Given the description of an element on the screen output the (x, y) to click on. 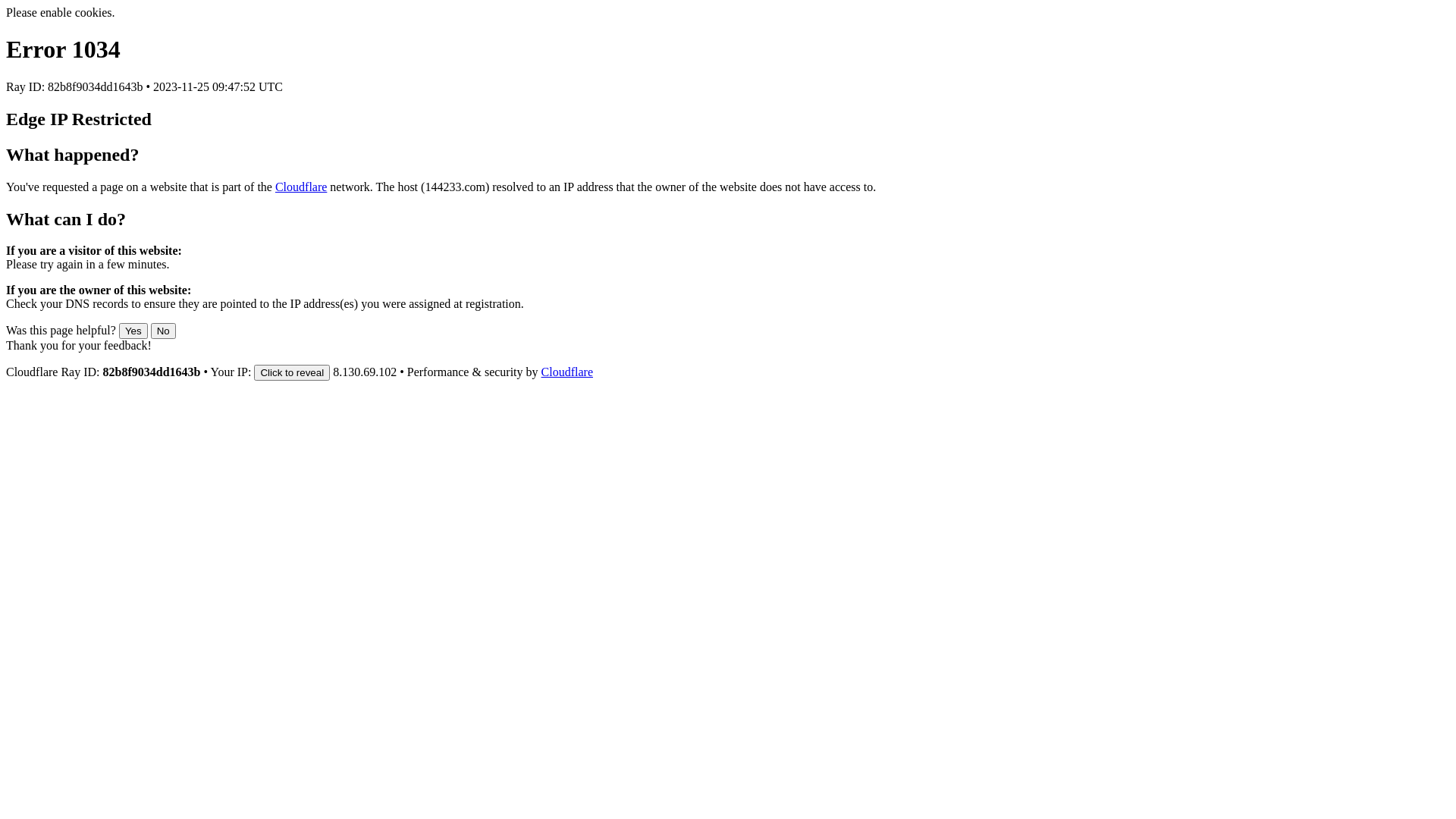
Cloudflare Element type: text (300, 186)
Cloudflare Element type: text (567, 371)
No Element type: text (162, 330)
Click to reveal Element type: text (291, 372)
Yes Element type: text (133, 330)
